Given the description of an element on the screen output the (x, y) to click on. 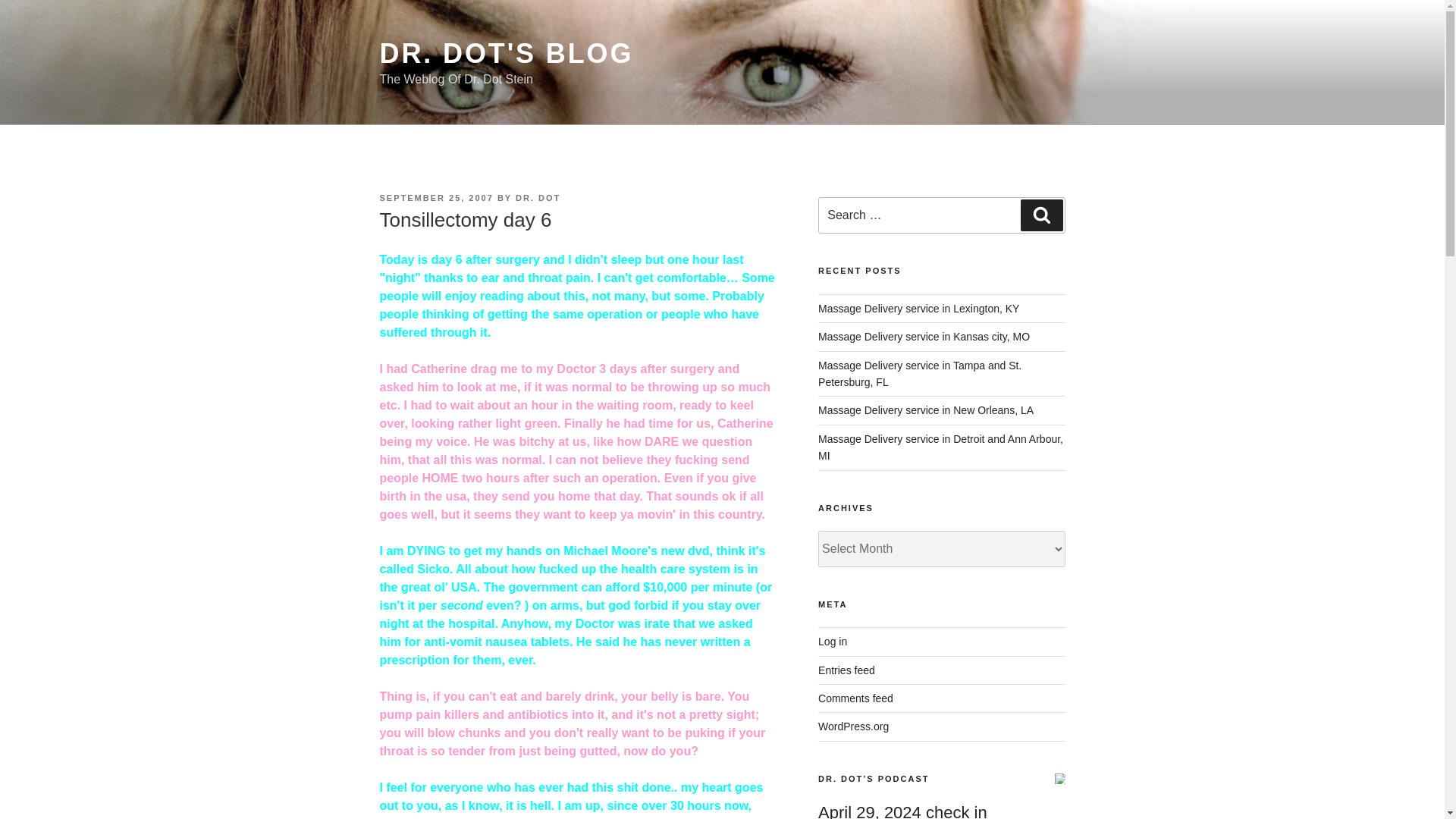
Massage Delivery service in Lexington, KY (918, 308)
Search (1041, 214)
SEPTEMBER 25, 2007 (435, 197)
Massage Delivery service in Detroit and Ann Arbour, MI (940, 447)
DR. DOT'S BLOG (505, 52)
DR. DOT (537, 197)
Entries feed (846, 670)
Log in (832, 641)
Comments feed (855, 698)
April 29, 2024 check in (902, 811)
